Given the description of an element on the screen output the (x, y) to click on. 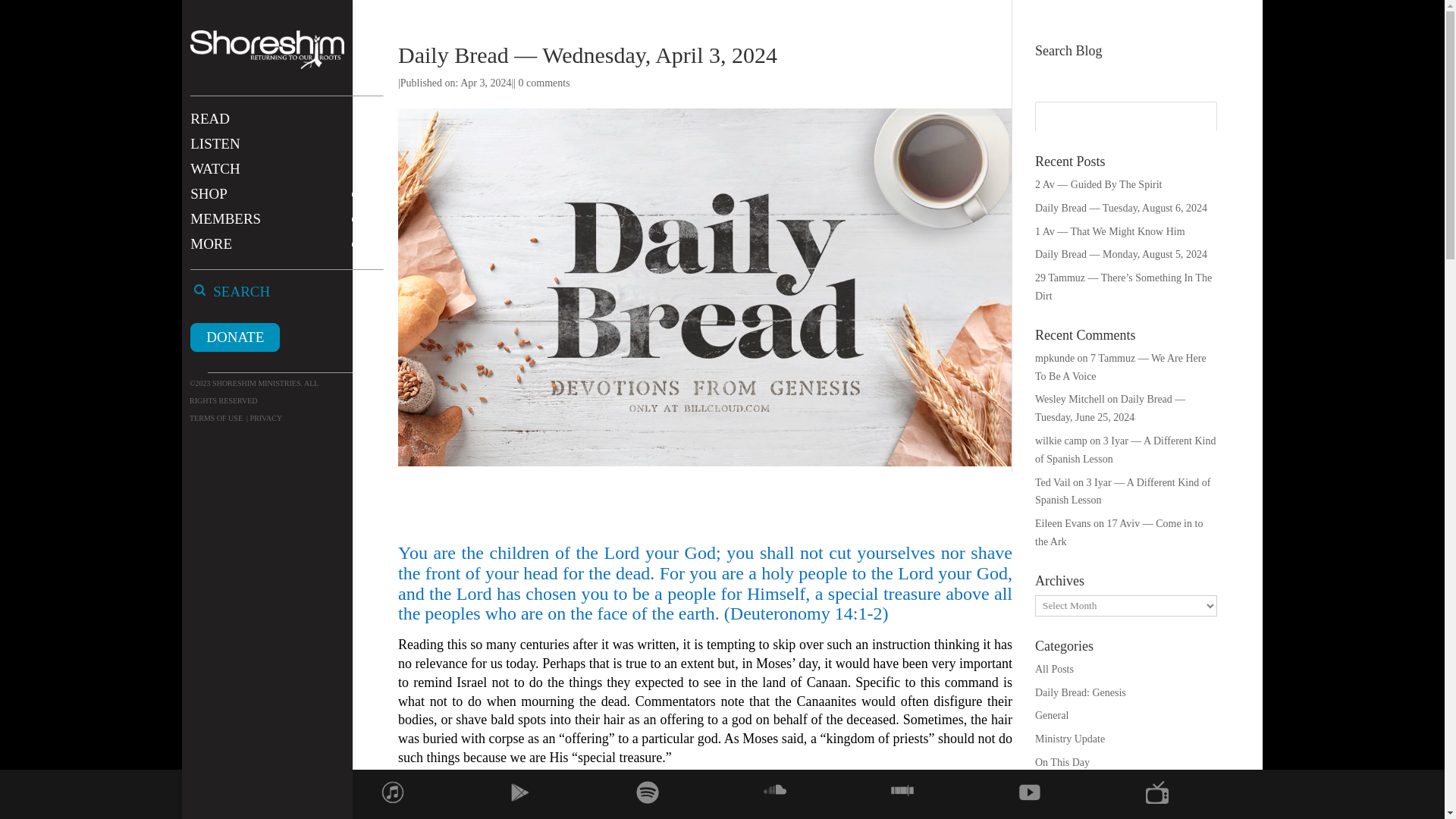
READ (282, 125)
WATCH (282, 176)
MEMBERS (282, 226)
SEARCH (255, 298)
SHOP (282, 201)
PRIVACY (264, 418)
0 comments (544, 82)
LISTEN (282, 150)
MORE (282, 251)
DONATE (234, 337)
TERMS OF USE (216, 418)
